Given the description of an element on the screen output the (x, y) to click on. 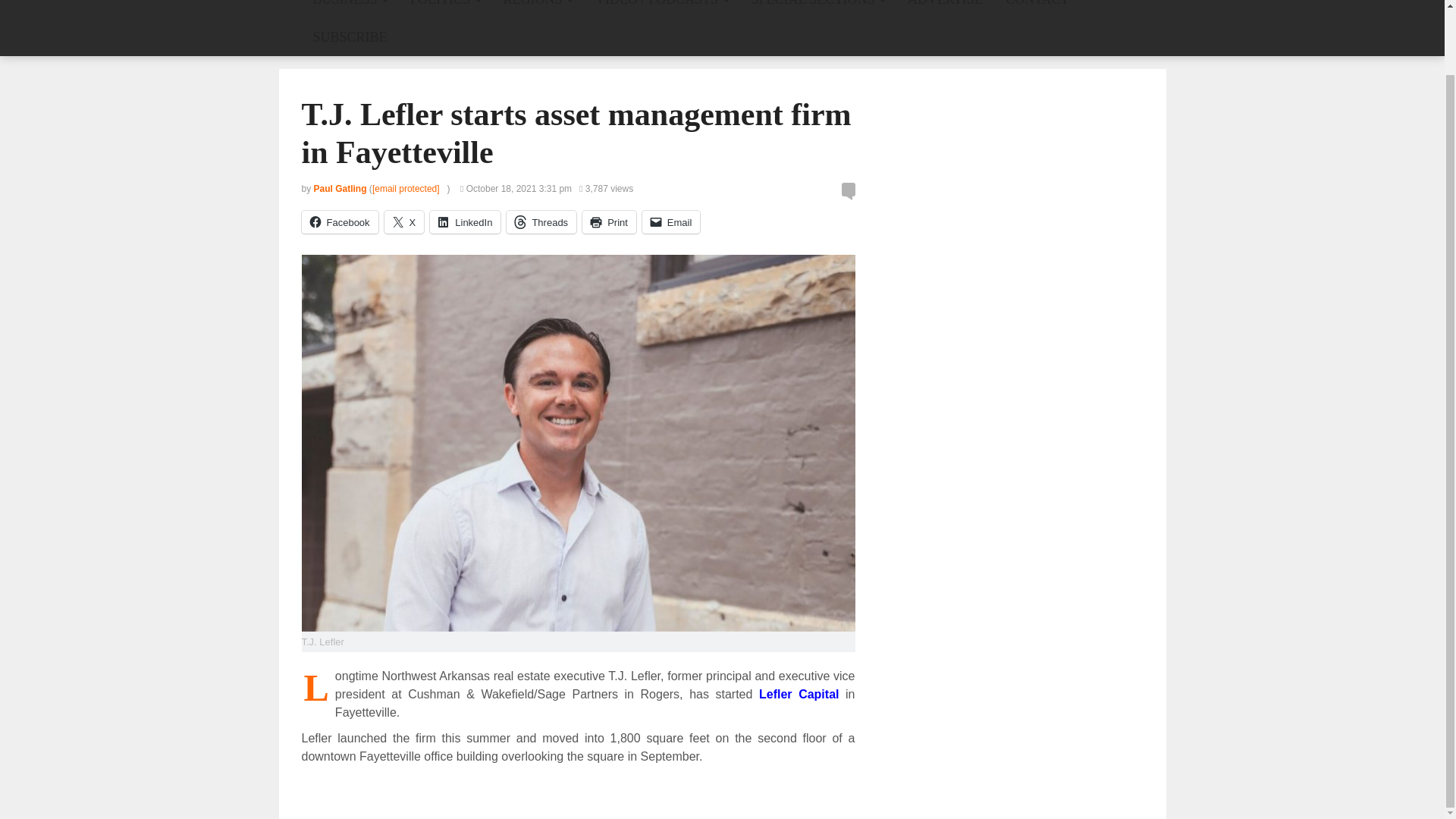
POLITICS (445, 9)
Click to share on Facebook (339, 221)
BUSINESS (349, 9)
Click to email a link to a friend (671, 221)
Click to share on X (404, 221)
Click to share on Threads (541, 221)
Click to share on LinkedIn (464, 221)
Click to print (609, 221)
